Given the description of an element on the screen output the (x, y) to click on. 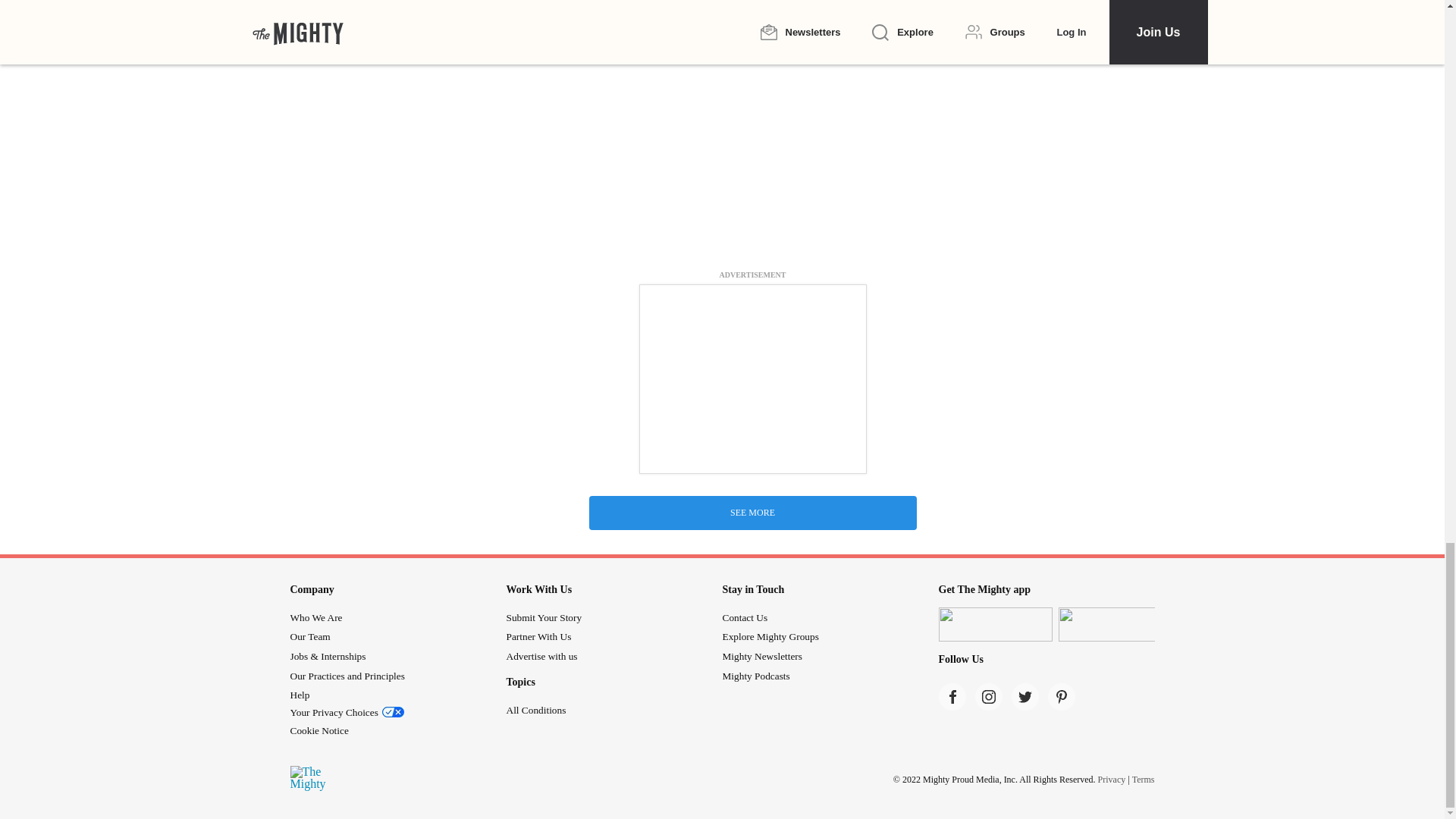
Our Practices and Principles (346, 675)
Our Team (309, 636)
SEE MORE (751, 512)
Who We Are (315, 617)
